Given the description of an element on the screen output the (x, y) to click on. 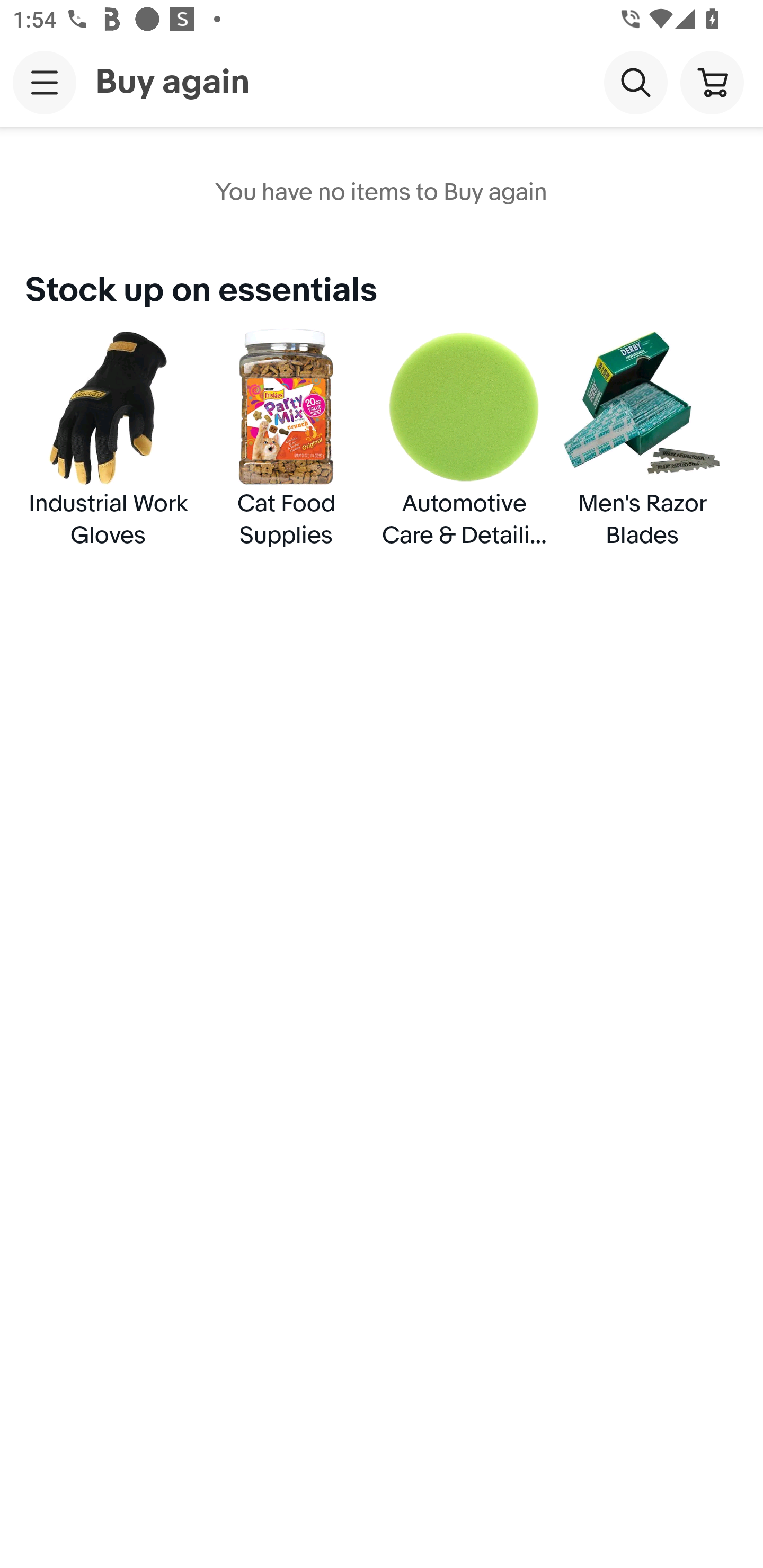
Main navigation, open (44, 82)
Search (635, 81)
Cart button shopping cart (711, 81)
Industrial Work Gloves (107, 436)
Cat Food Supplies (285, 436)
Automotive Care & Detailing (464, 436)
Men's Razor Blades (641, 436)
